Given the description of an element on the screen output the (x, y) to click on. 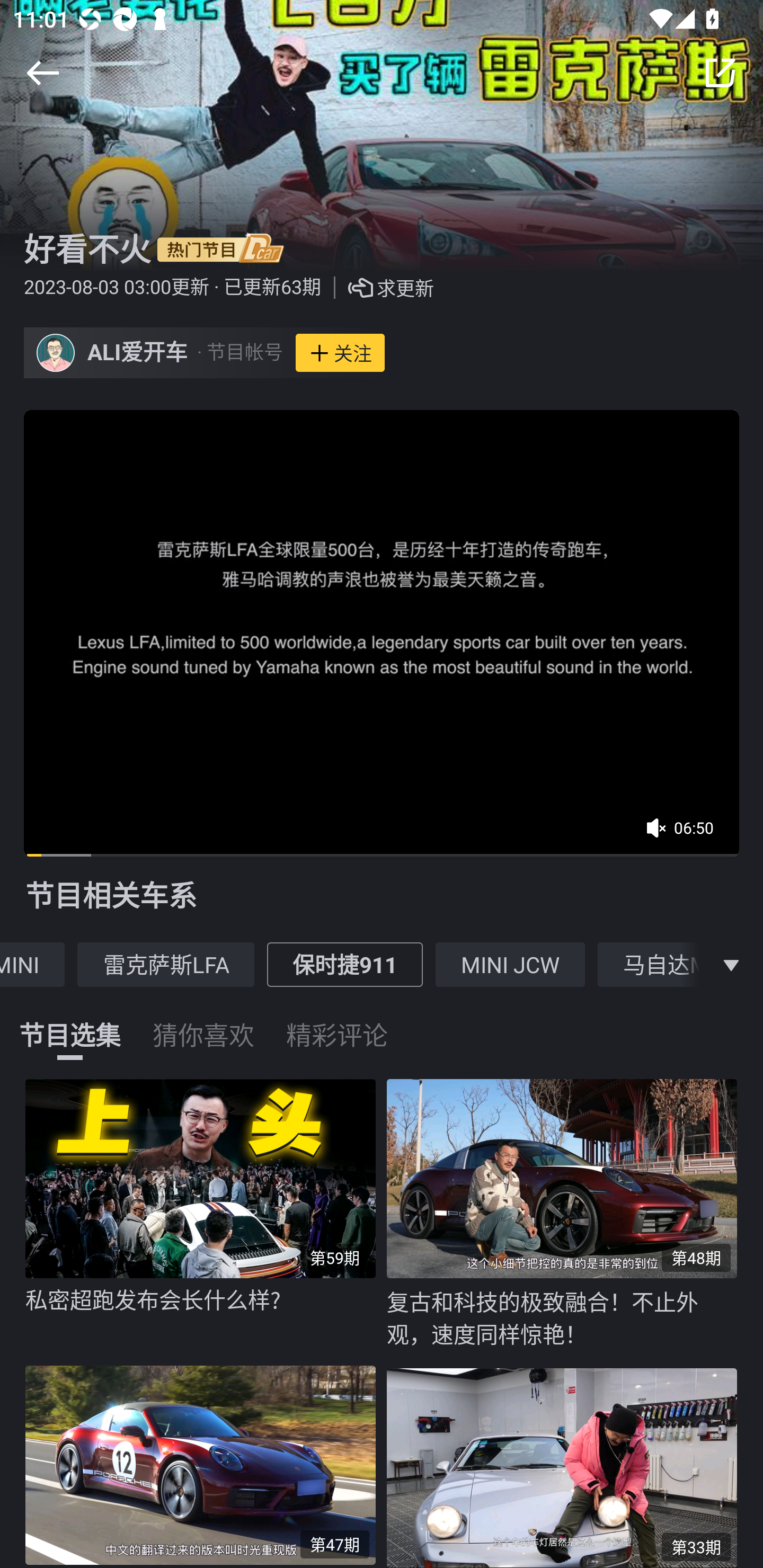
 (42, 72)
 (720, 72)
 求更新 (377, 287)
ALI爱开车 (137, 352)
· 节目帐号 (239, 352)
 关注 (340, 352)
06:51 (685, 834)
 (731, 963)
雷克萨斯LFA (165, 964)
保时捷911 (344, 964)
MINI JCW (510, 964)
节目选集 (69, 1023)
猜你喜欢 (203, 1023)
精彩评论 (336, 1023)
第59期 私密超跑发布会长什么样? (205, 1212)
第48期 复古和科技的极致融合！不止外观，速度同样惊艳！ (567, 1214)
第47期 (205, 1462)
第33期 (567, 1463)
